Given the description of an element on the screen output the (x, y) to click on. 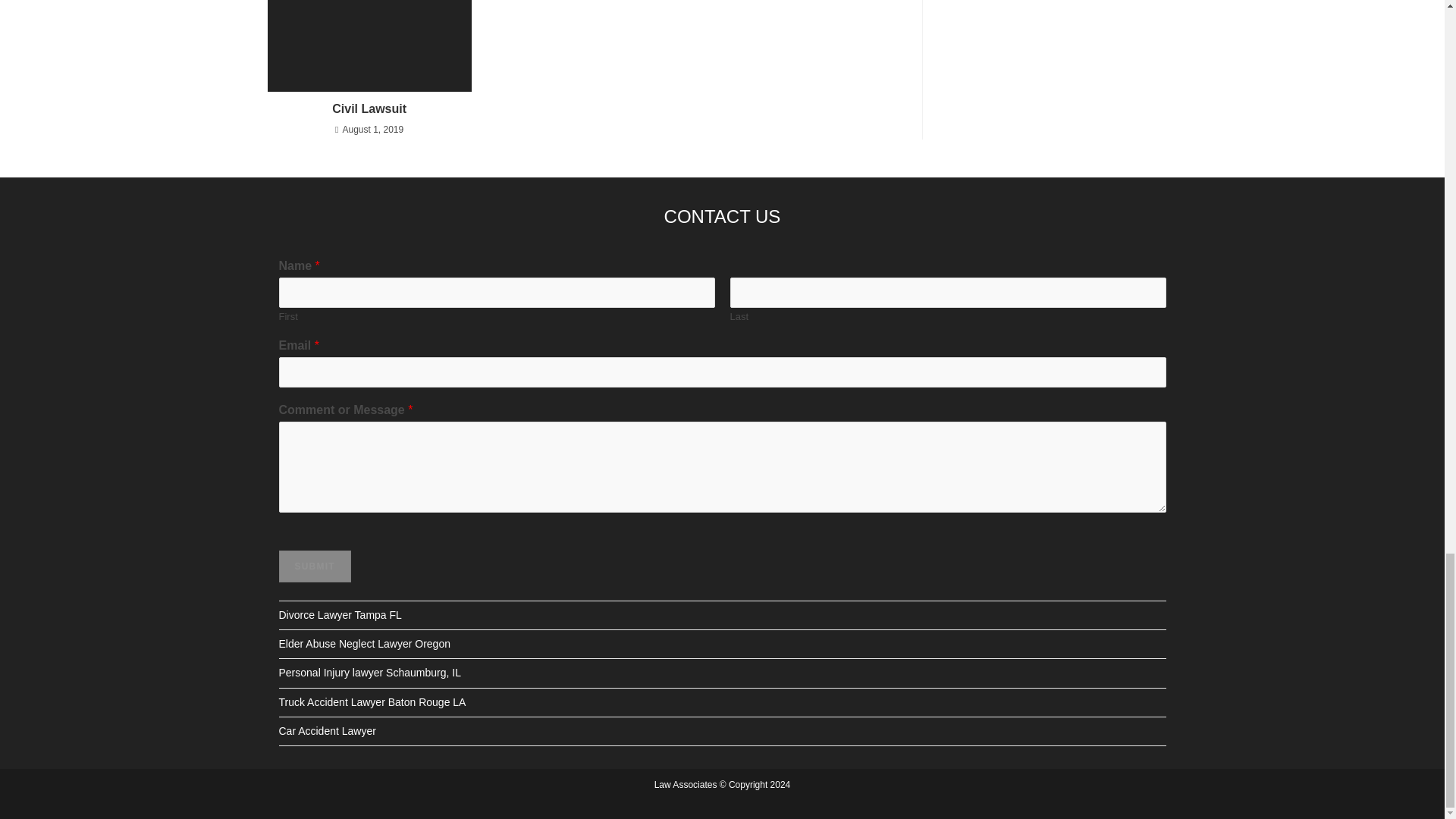
Elder Abuse Neglect Lawyer Oregon (364, 644)
SUBMIT (314, 566)
Divorce Lawyer Tampa FL (340, 614)
Truck Accident Lawyer Baton Rouge LA (372, 702)
Civil Lawsuit (368, 108)
Personal Injury lawyer Schaumburg, IL (370, 672)
Car Accident Lawyer (327, 730)
